Given the description of an element on the screen output the (x, y) to click on. 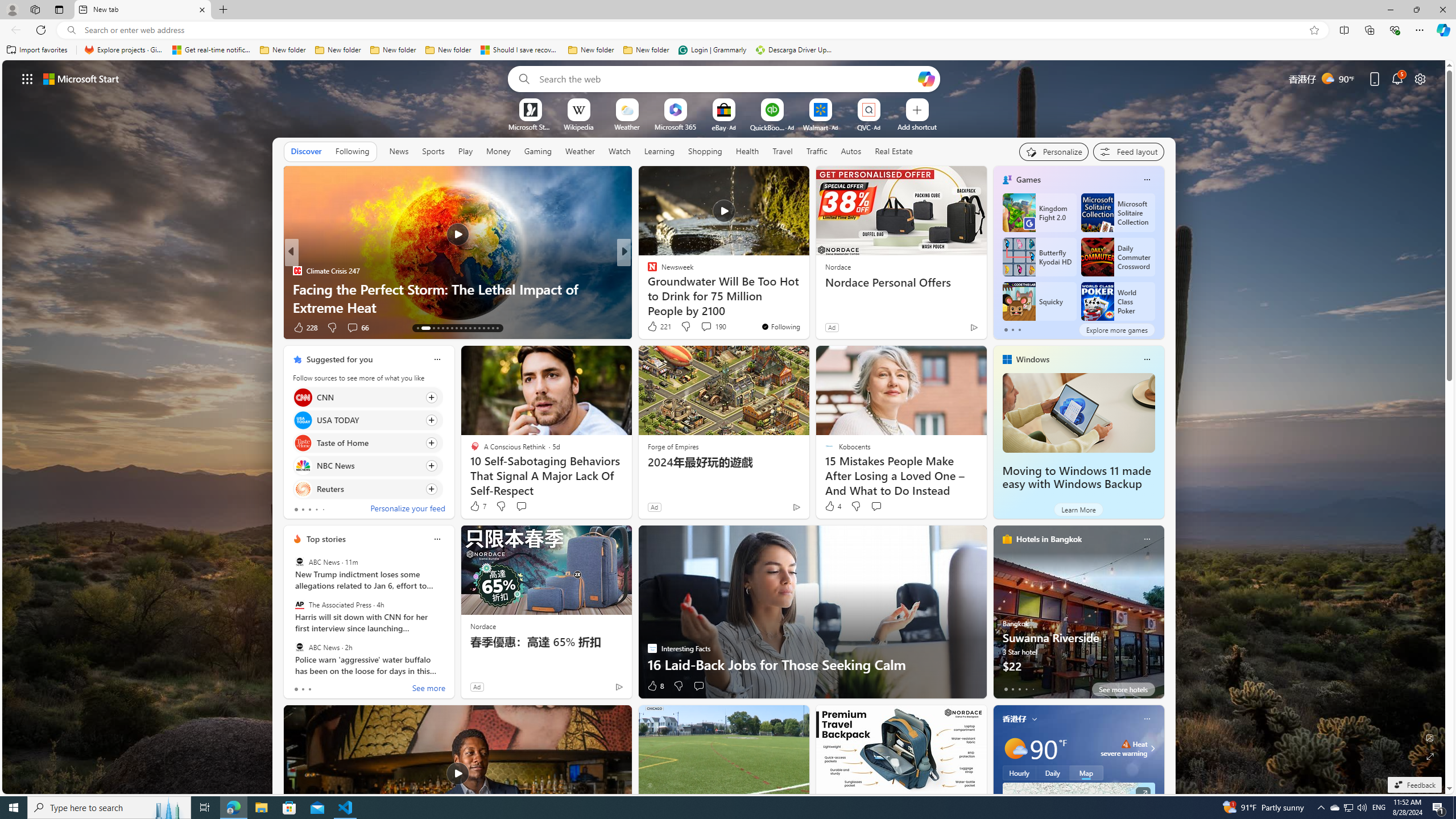
Import favorites (36, 49)
Descarga Driver Updater (794, 49)
Search icon (70, 29)
Favorites bar (728, 49)
New folder (646, 49)
Should I save recovered Word documents? - Microsoft Support (519, 49)
